Given the description of an element on the screen output the (x, y) to click on. 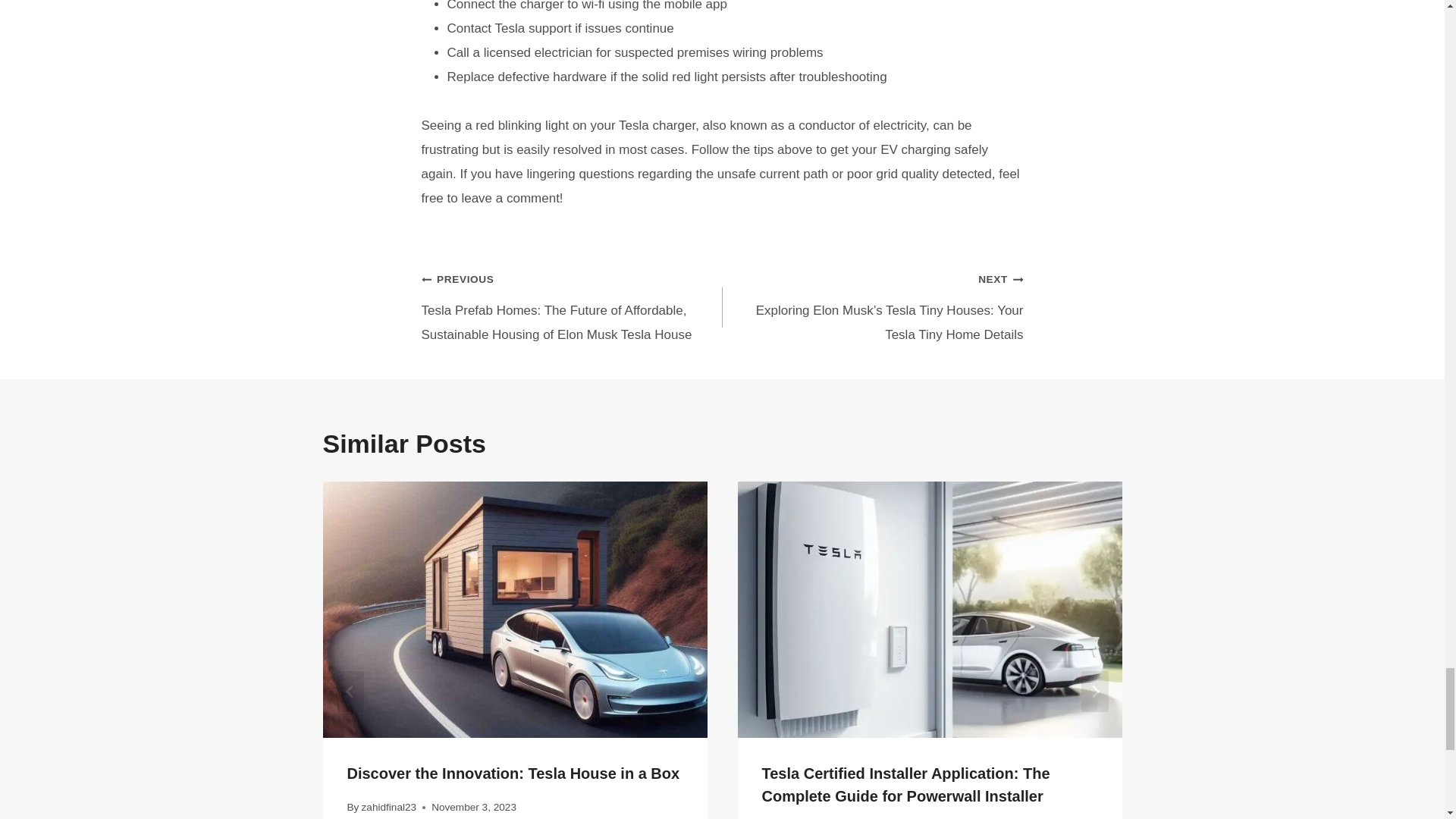
Discover the Innovation: Tesla House in a Box 4 (515, 609)
